Given the description of an element on the screen output the (x, y) to click on. 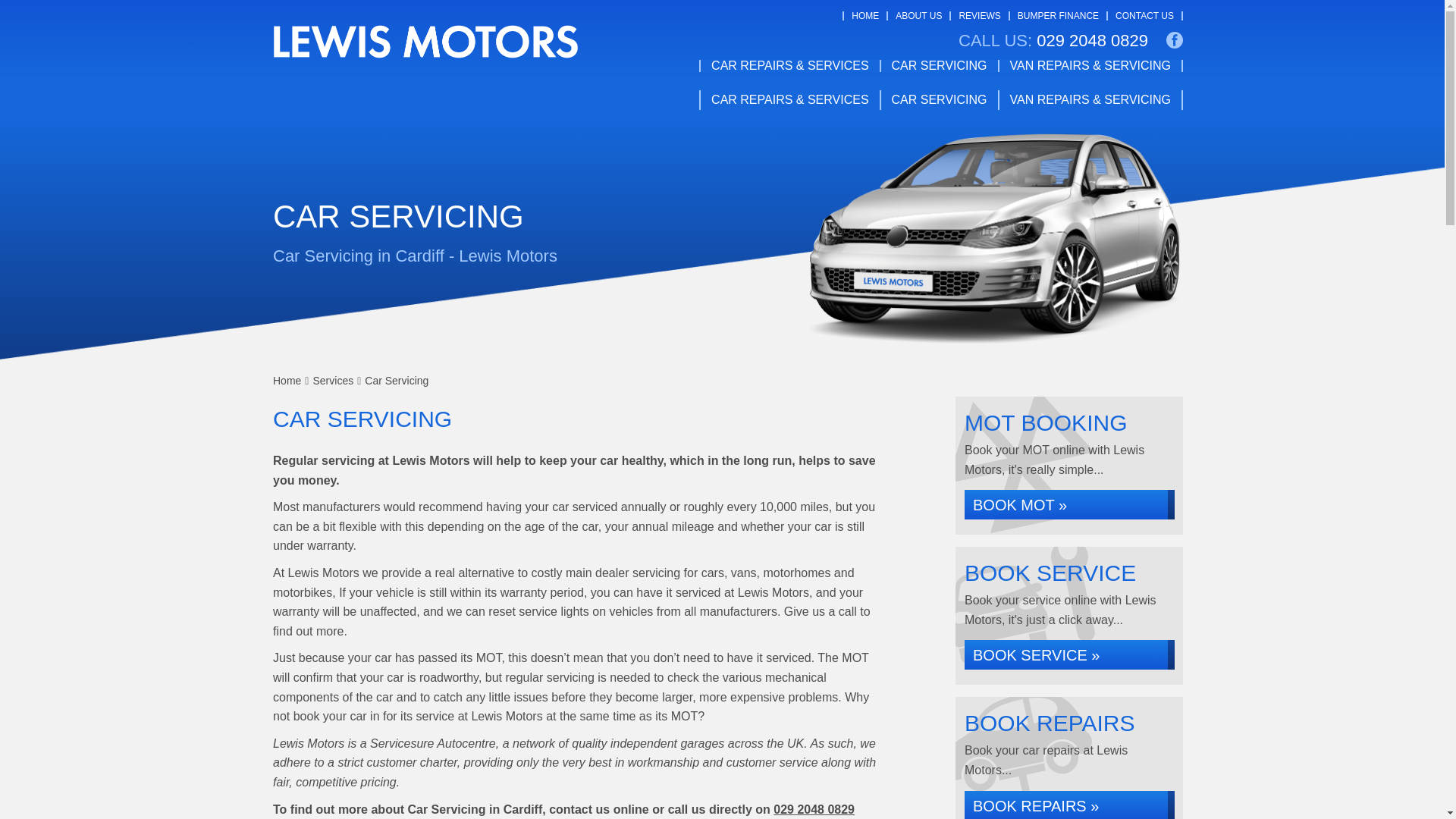
CALL US: 029 2048 0829 (1053, 40)
BUMPER FINANCE (1058, 15)
CAR SERVICING (939, 65)
HOME (865, 15)
REVIEWS (979, 15)
CONTACT US (1144, 15)
ABOUT US (918, 15)
